Given the description of an element on the screen output the (x, y) to click on. 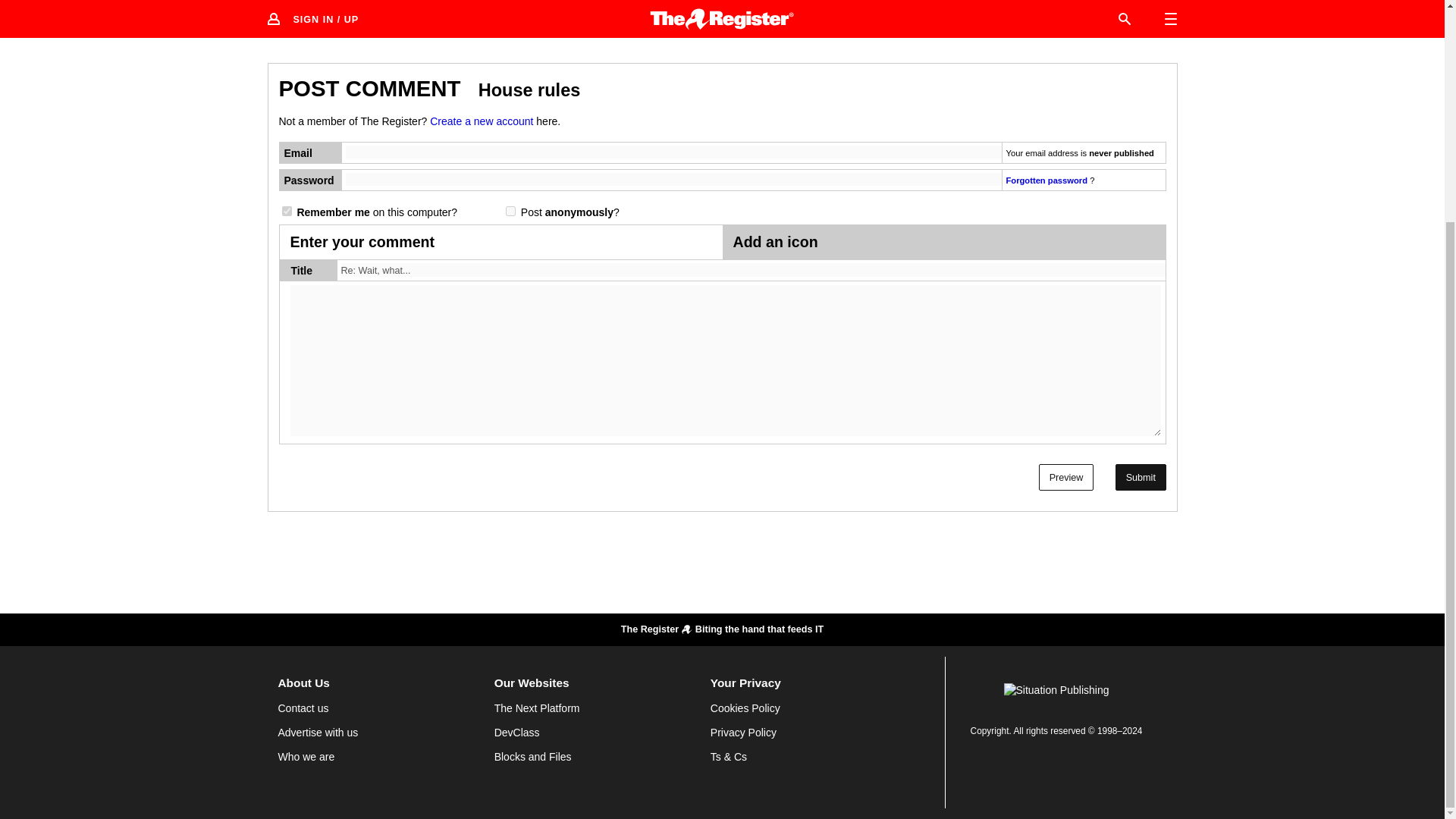
1 (510, 210)
Submit (1140, 477)
Preview (1066, 477)
1 (287, 210)
The spawn of satan (1149, 11)
Re: Wait, what... (753, 269)
